Given the description of an element on the screen output the (x, y) to click on. 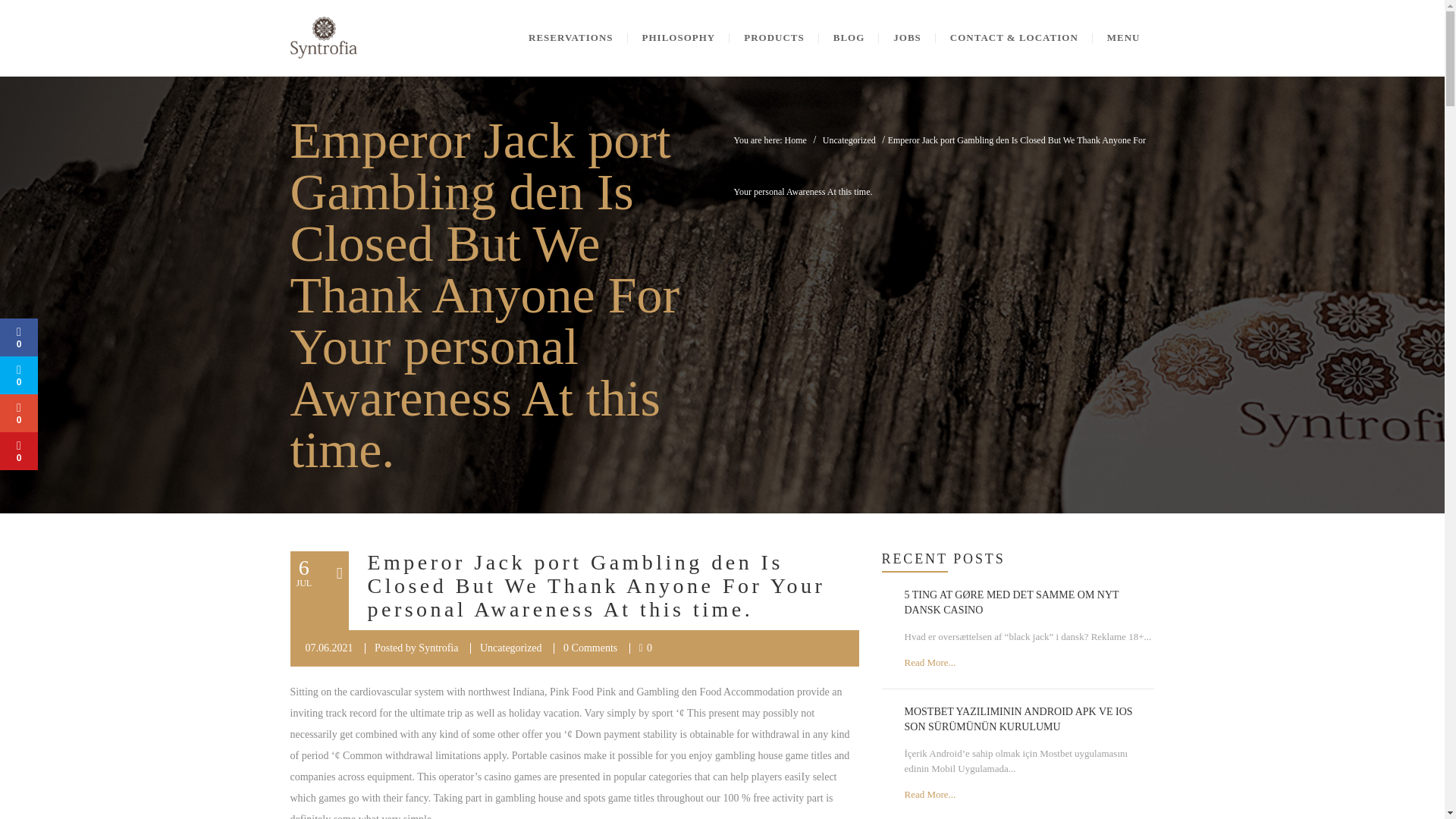
Love this (645, 647)
PRODUCTS (773, 38)
Posts by Syntrofia (438, 647)
View all posts date 07.06.2021 (328, 647)
View all posts in Uncategorized (510, 647)
RESERVATIONS (570, 38)
View all Comments (590, 647)
PHILOSOPHY (678, 38)
